Given the description of an element on the screen output the (x, y) to click on. 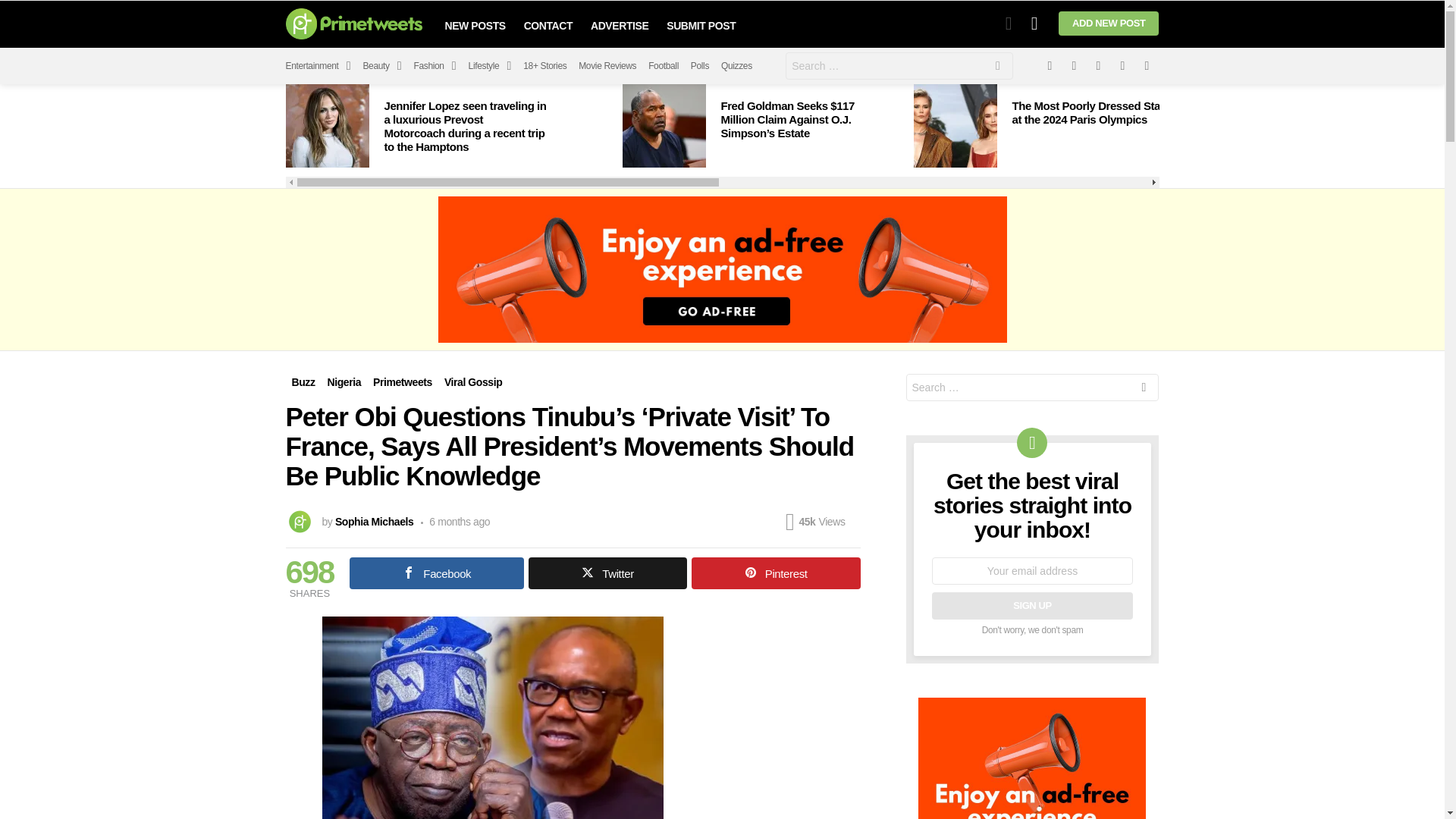
Movie Reviews (607, 65)
facebook (1048, 65)
Football (662, 65)
Lifestyle (490, 65)
SUBMIT POST (700, 25)
Sign up (1031, 605)
Quizzes (736, 65)
Search for: (899, 65)
The Most Poorly Dressed Stars at the 2024 Paris Olympics (953, 125)
CONTACT (547, 25)
ADD NEW POST (1108, 23)
NEW POSTS (474, 25)
SEARCH (997, 67)
